Given the description of an element on the screen output the (x, y) to click on. 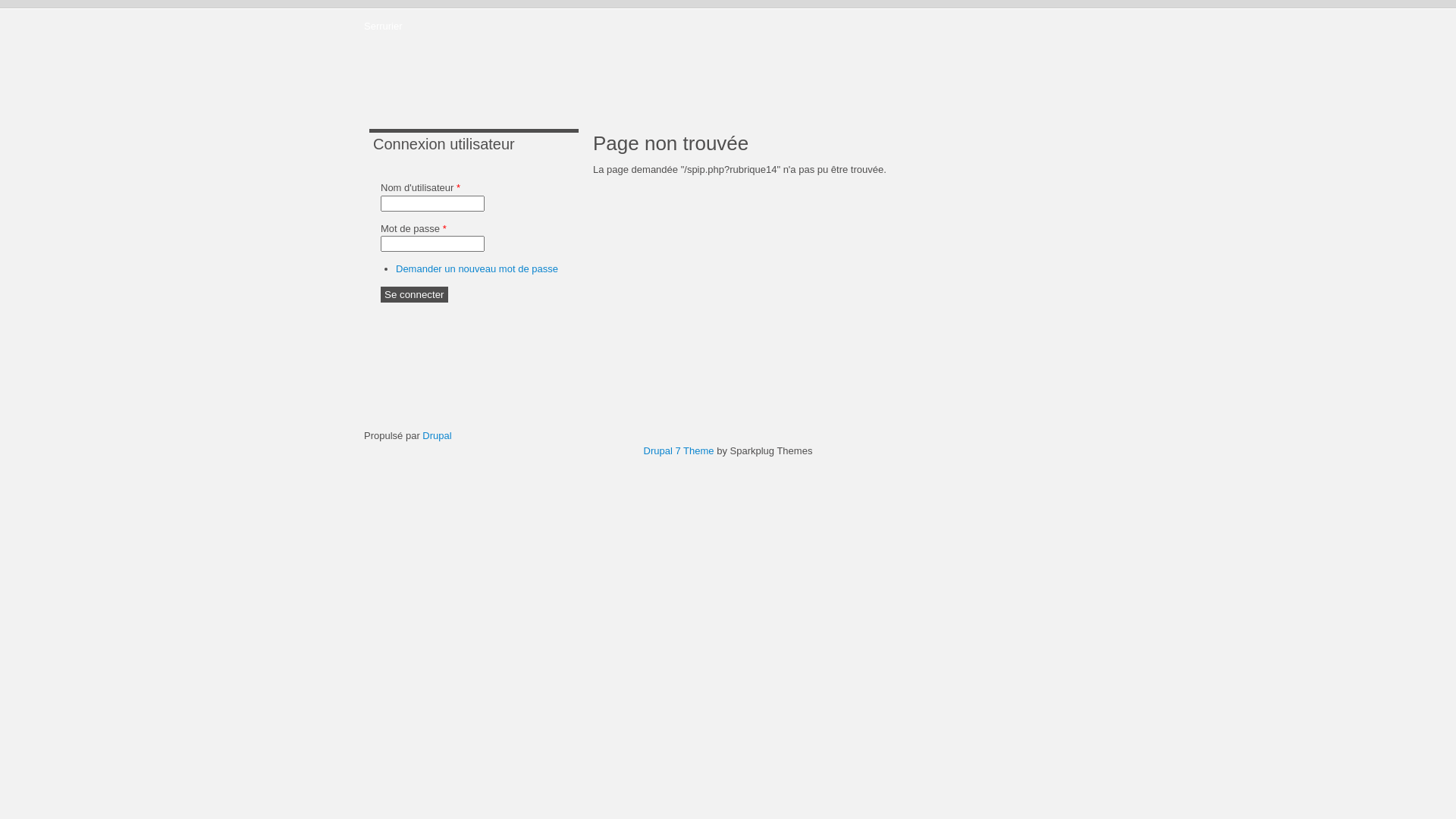
Drupal 7 Theme Element type: text (678, 449)
Drupal Element type: text (436, 435)
Se connecter Element type: text (414, 294)
Aller au contenu principal Element type: text (55, 0)
Demander un nouveau mot de passe Element type: text (476, 268)
